Given the description of an element on the screen output the (x, y) to click on. 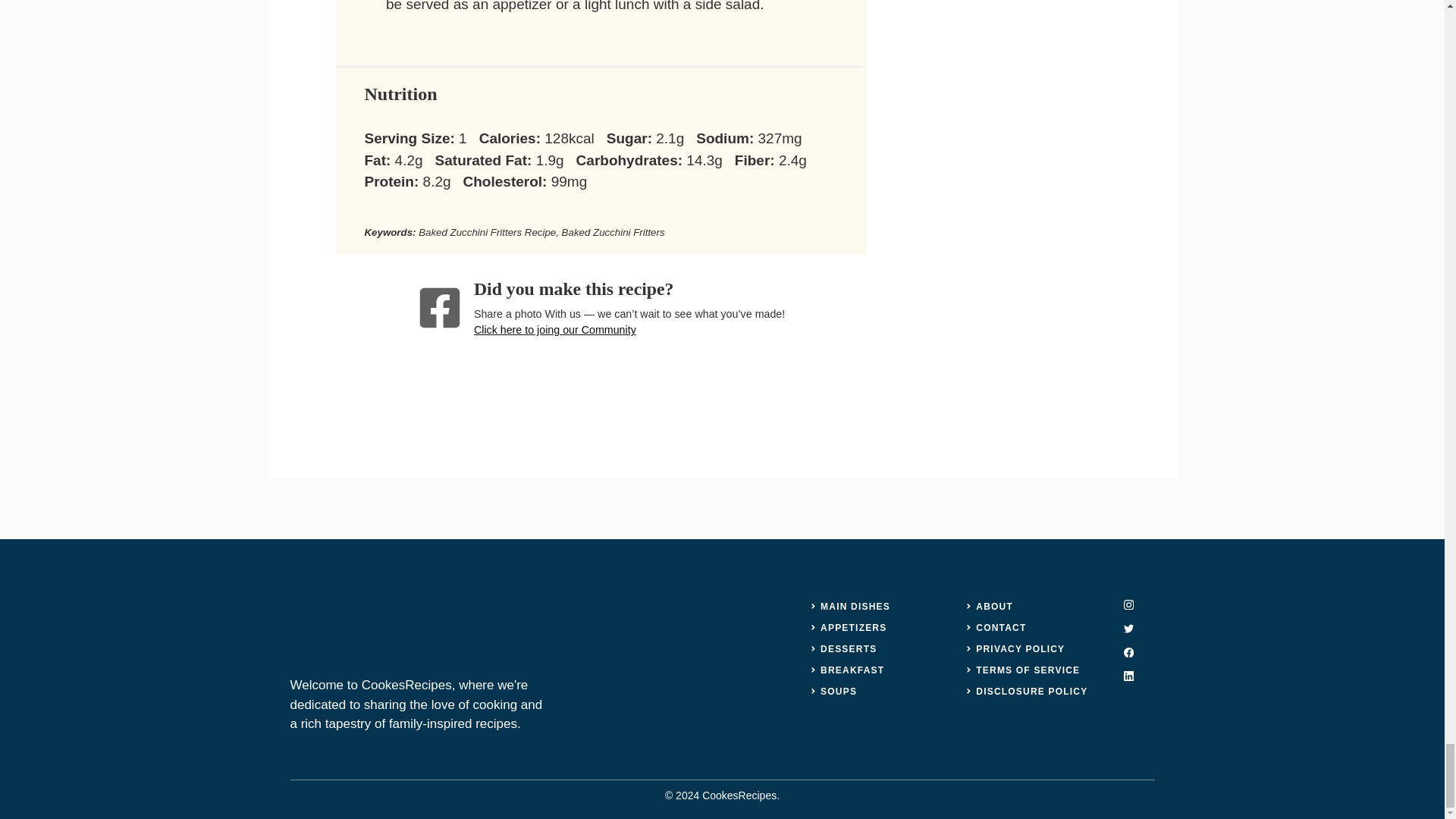
Click here to joing our Community (555, 329)
